Given the description of an element on the screen output the (x, y) to click on. 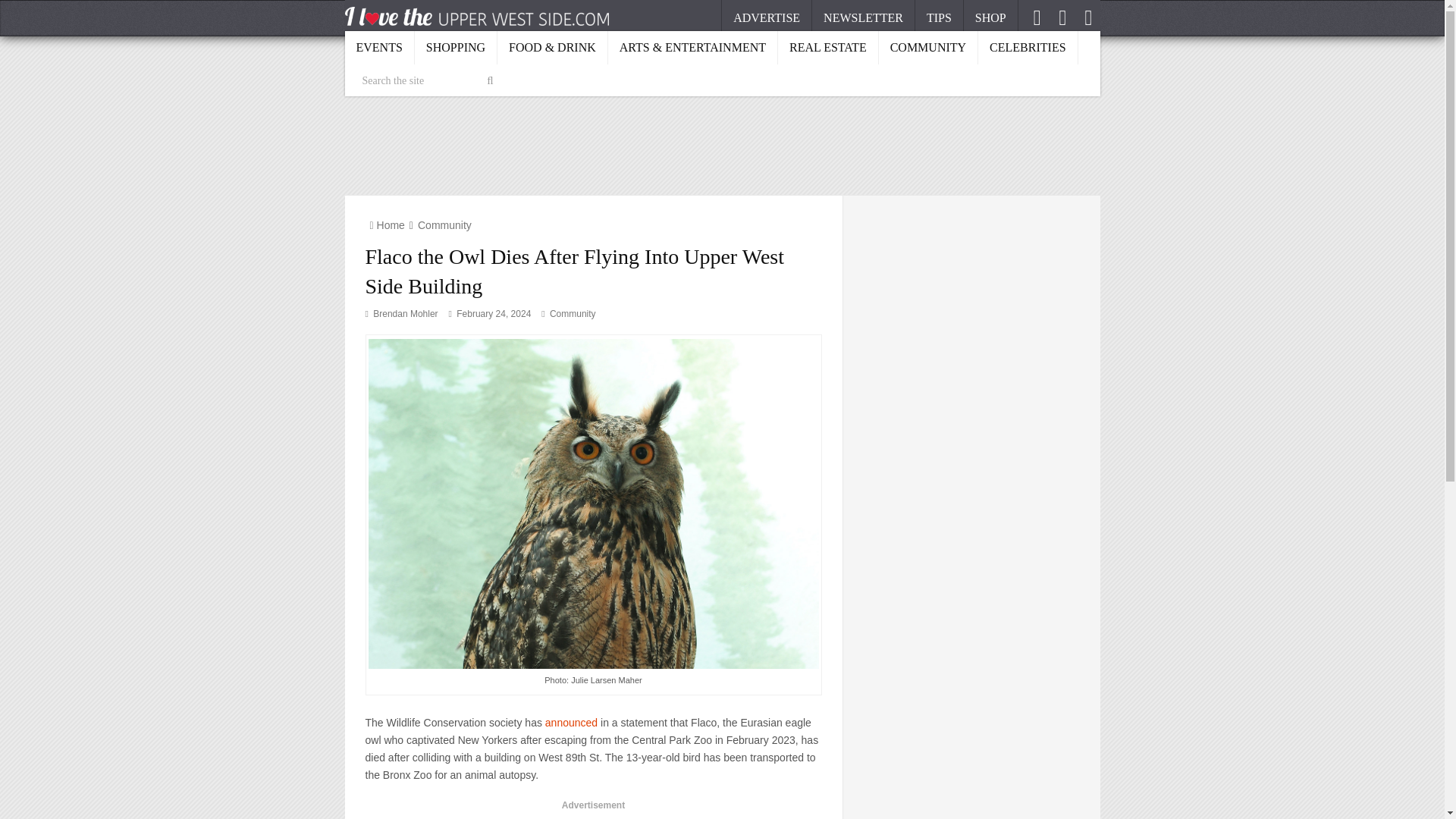
Facebook (1038, 17)
SHOPPING (455, 47)
Community (444, 224)
ADVERTISE (766, 18)
REAL ESTATE (828, 47)
EVENTS (378, 47)
announced (570, 722)
COMMUNITY (928, 47)
NEWSLETTER (863, 18)
Twitter (1064, 17)
